Given the description of an element on the screen output the (x, y) to click on. 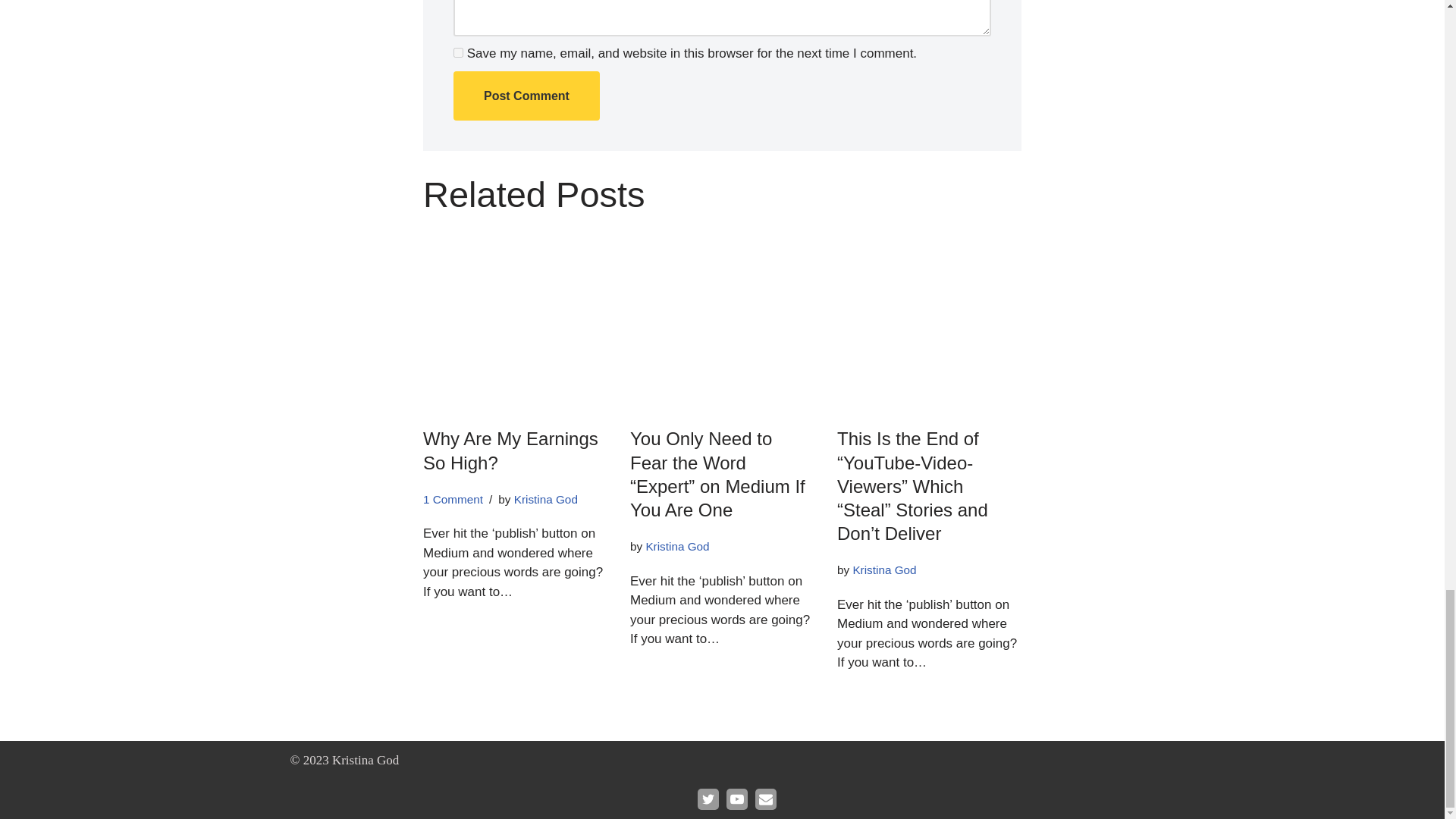
Posts by Kristina God (677, 545)
yes (457, 52)
Why Are My Earnings So High? (510, 450)
Posts by Kristina God (883, 569)
1 Comment (453, 499)
Twitter (708, 798)
Post Comment (525, 96)
Youtube (737, 798)
Kristina God (883, 569)
Substack (765, 798)
